Given the description of an element on the screen output the (x, y) to click on. 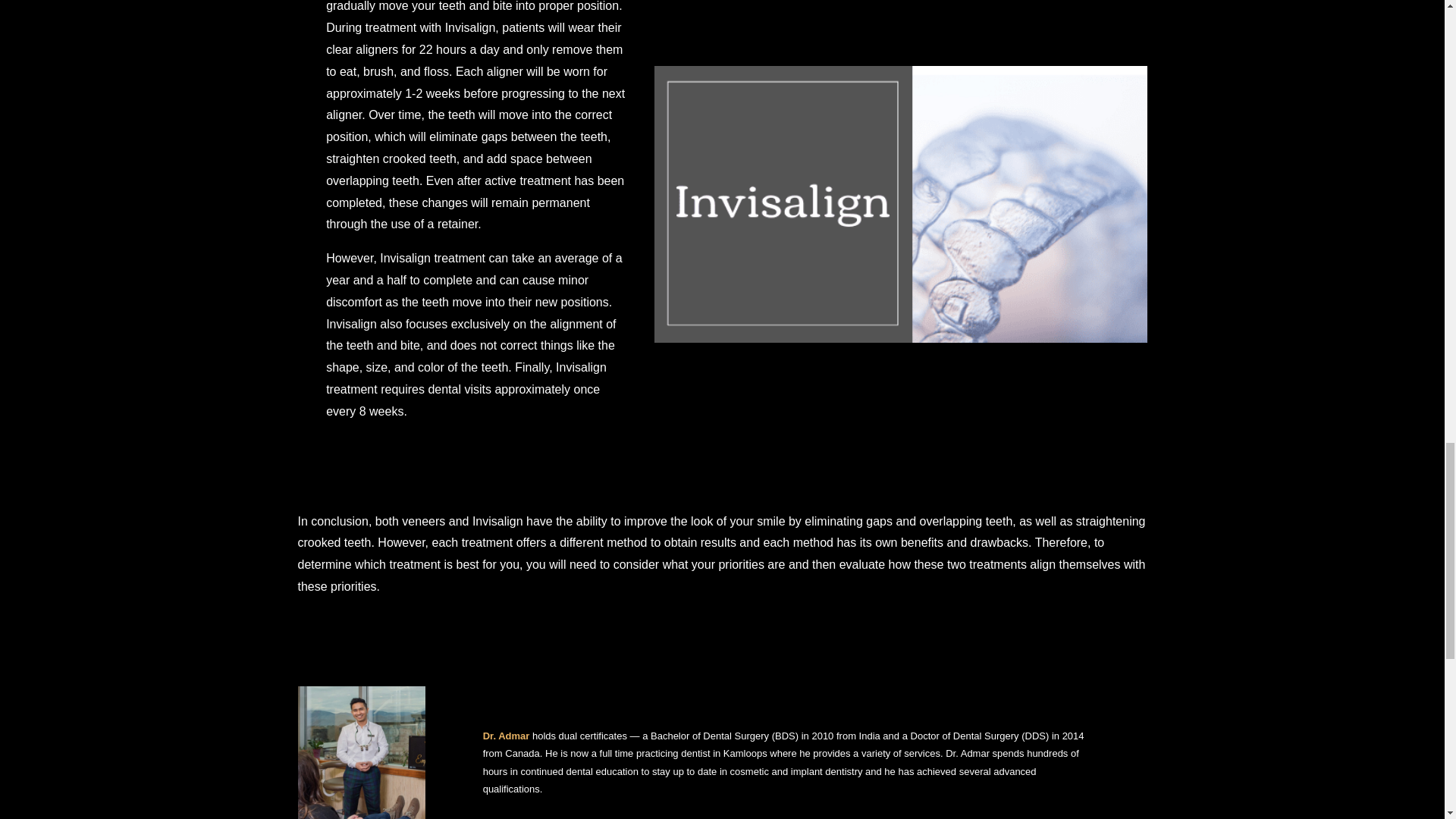
Dr. Admar (506, 736)
